Given the description of an element on the screen output the (x, y) to click on. 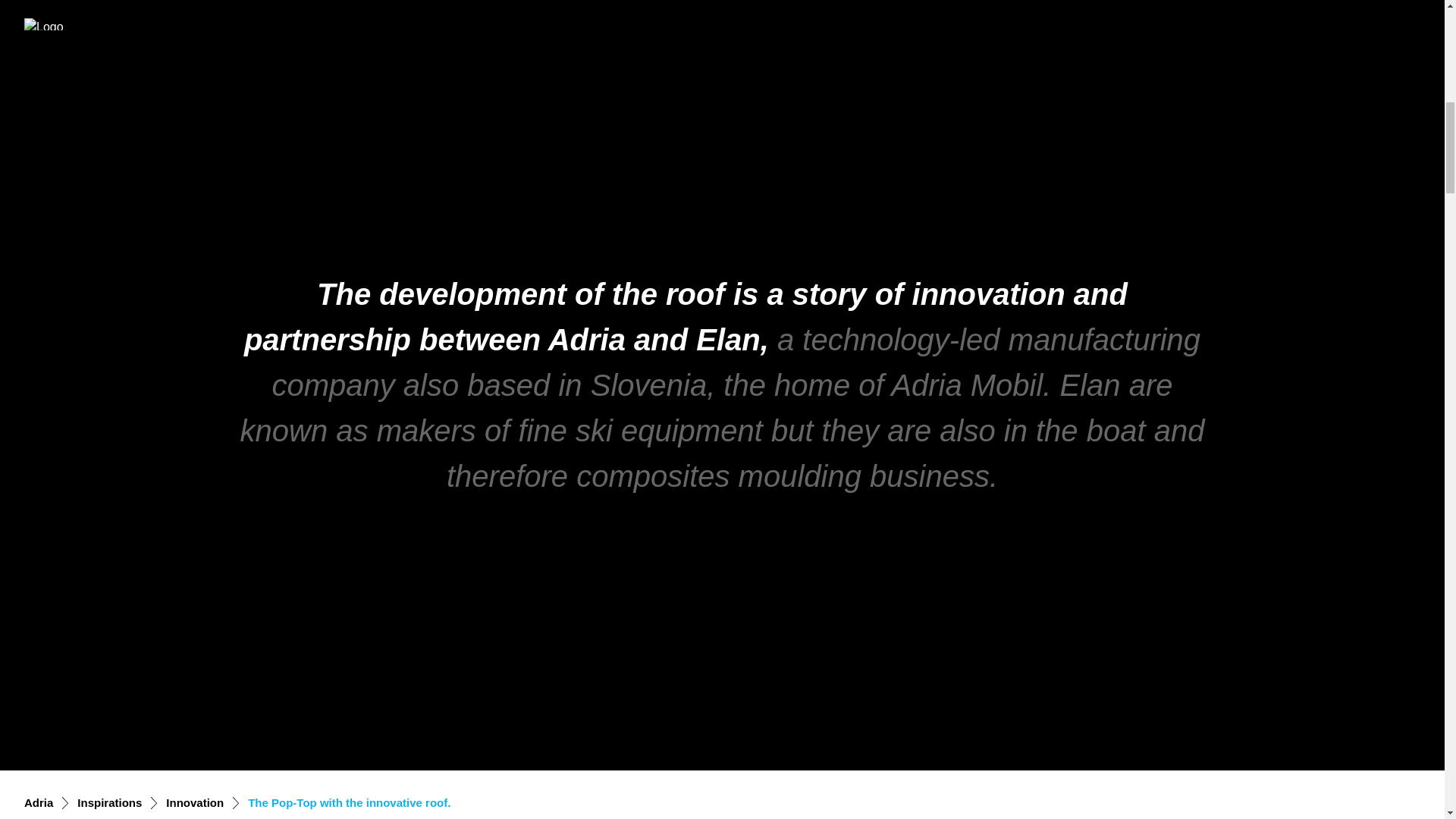
Inspirations (109, 803)
Adria (38, 803)
Innovation (194, 803)
